Given the description of an element on the screen output the (x, y) to click on. 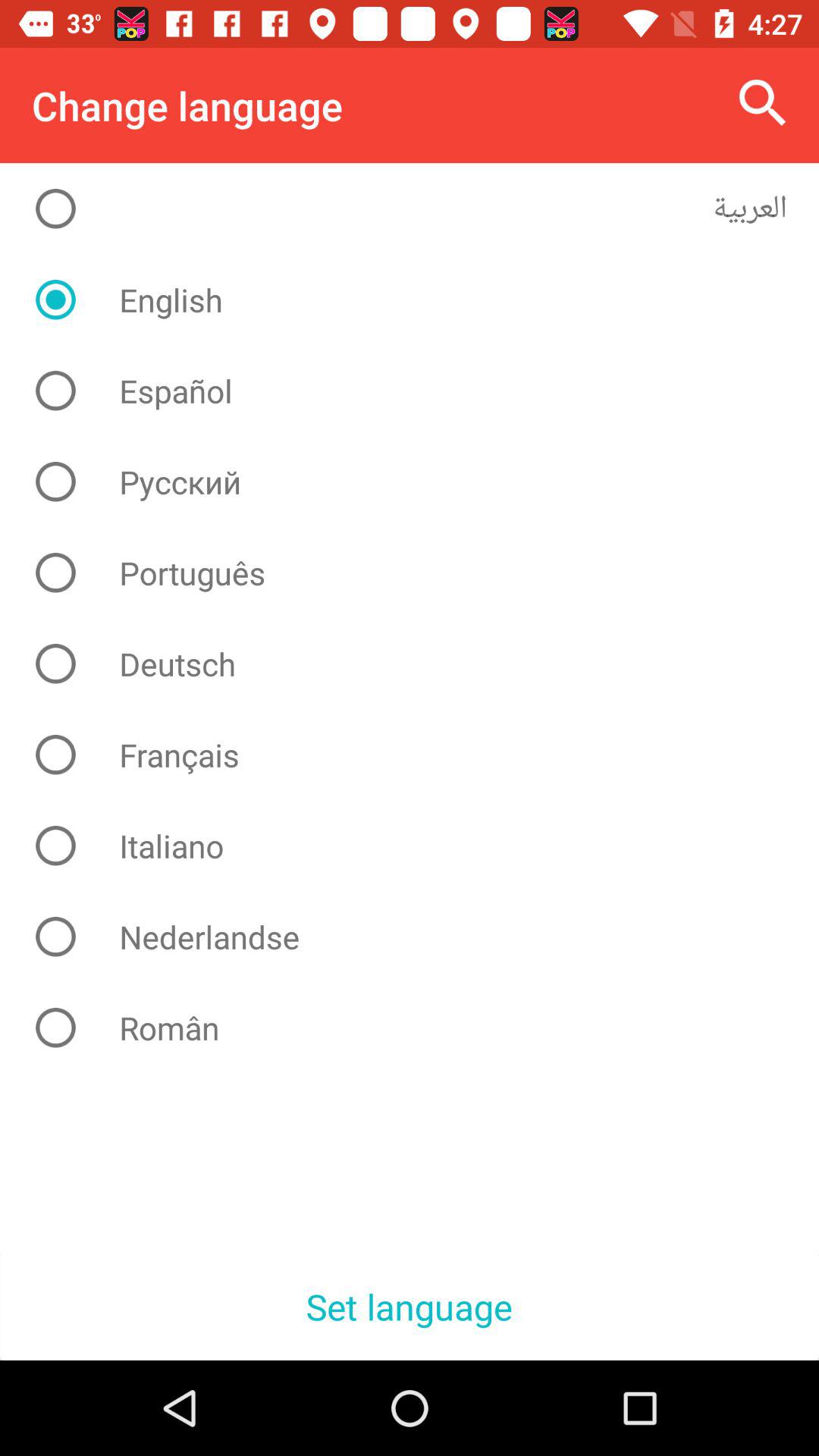
tap the item below italiano icon (421, 936)
